Given the description of an element on the screen output the (x, y) to click on. 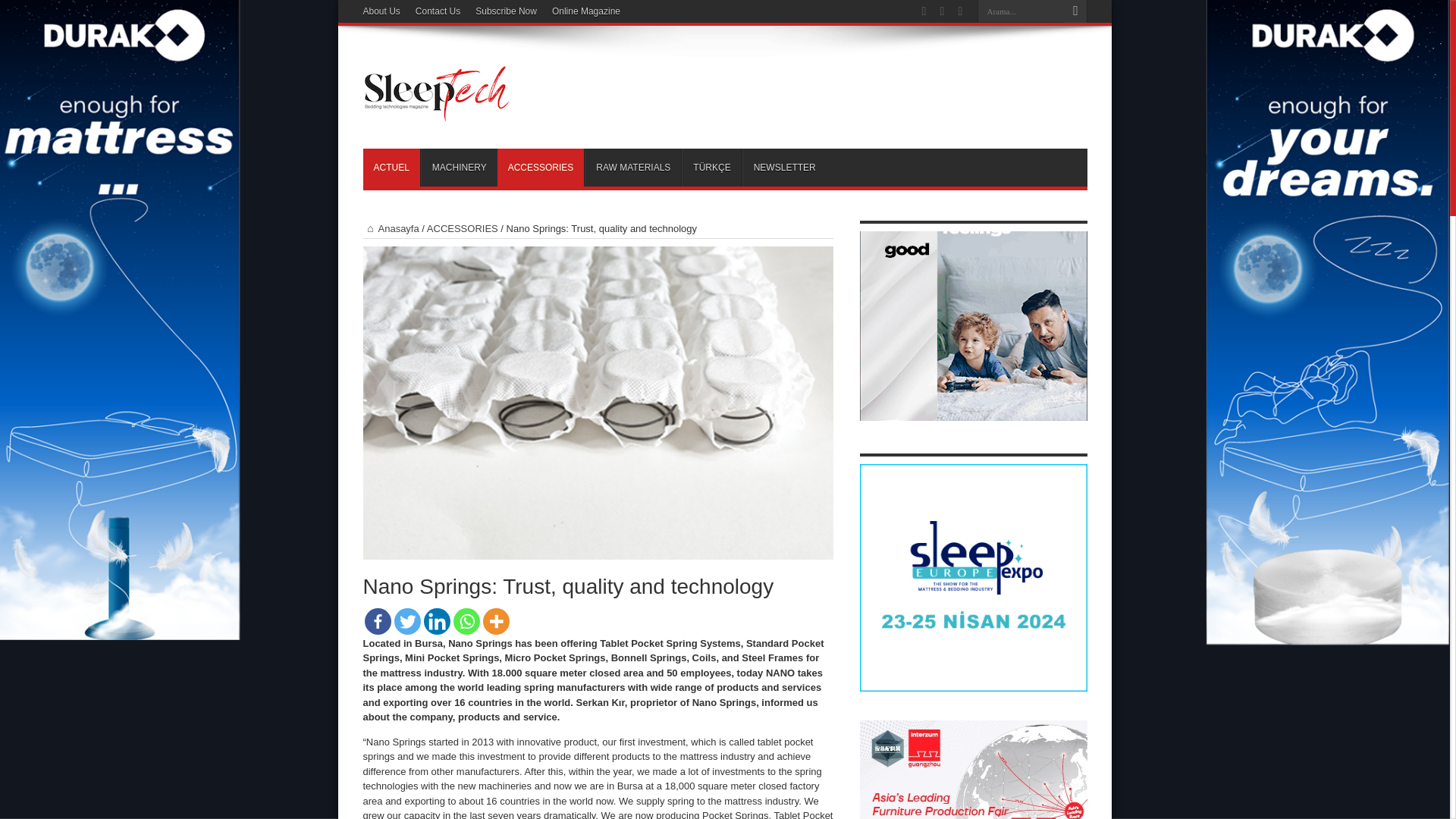
SleepTech Magazine (436, 110)
Arama (1075, 11)
Linkedin (436, 621)
ACCESSORIES (541, 167)
Arama... (1020, 11)
Subscribe Now (506, 11)
Contact Us (437, 11)
Anasayfa (390, 228)
About Us (380, 11)
Whatsapp (466, 621)
RAW MATERIALS (633, 167)
Online Magazine (585, 11)
ACCESSORIES (461, 228)
MACHINERY (458, 167)
Twitter (407, 621)
